Given the description of an element on the screen output the (x, y) to click on. 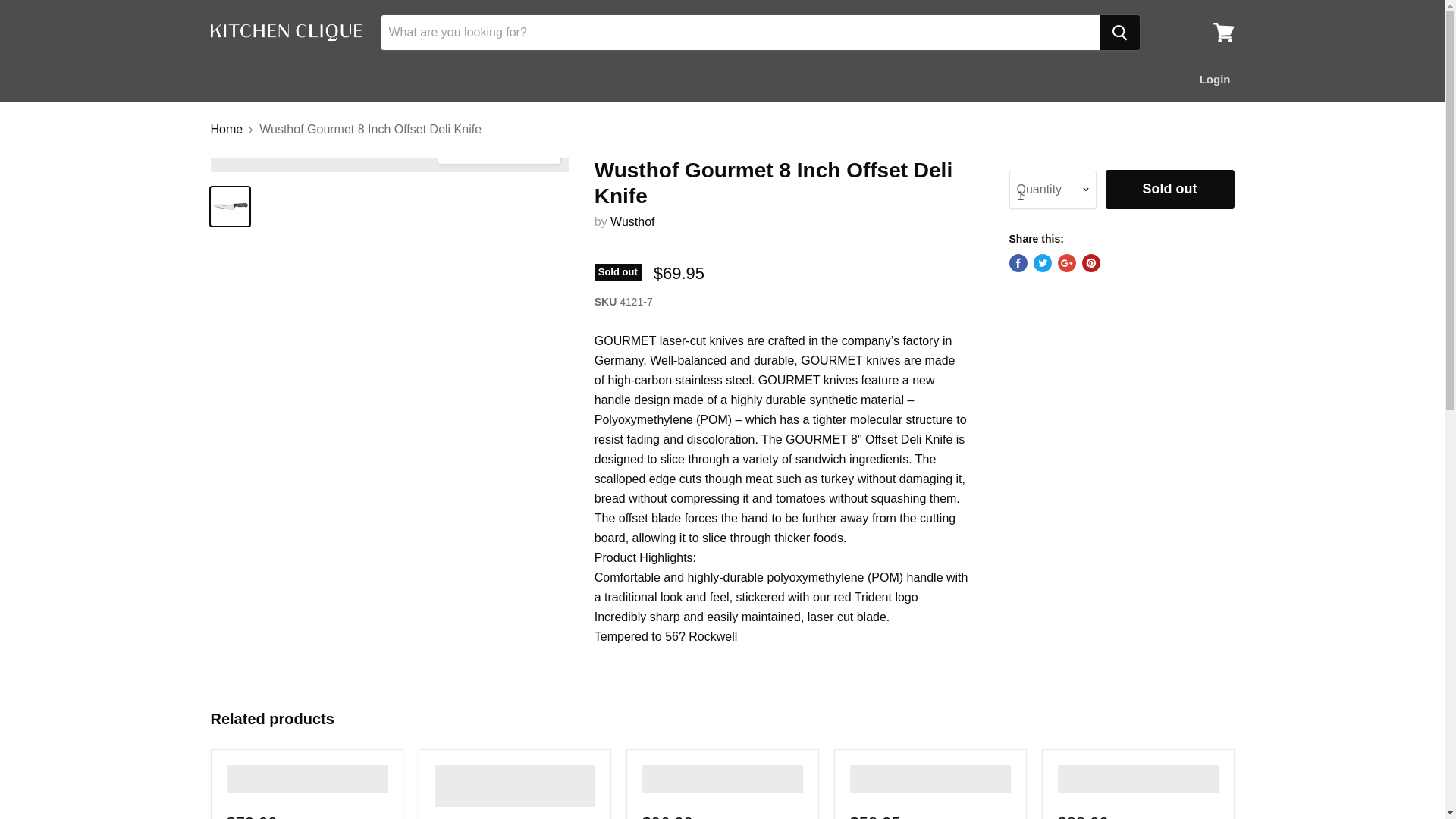
Wusthof (631, 221)
View cart (1223, 32)
